Given the description of an element on the screen output the (x, y) to click on. 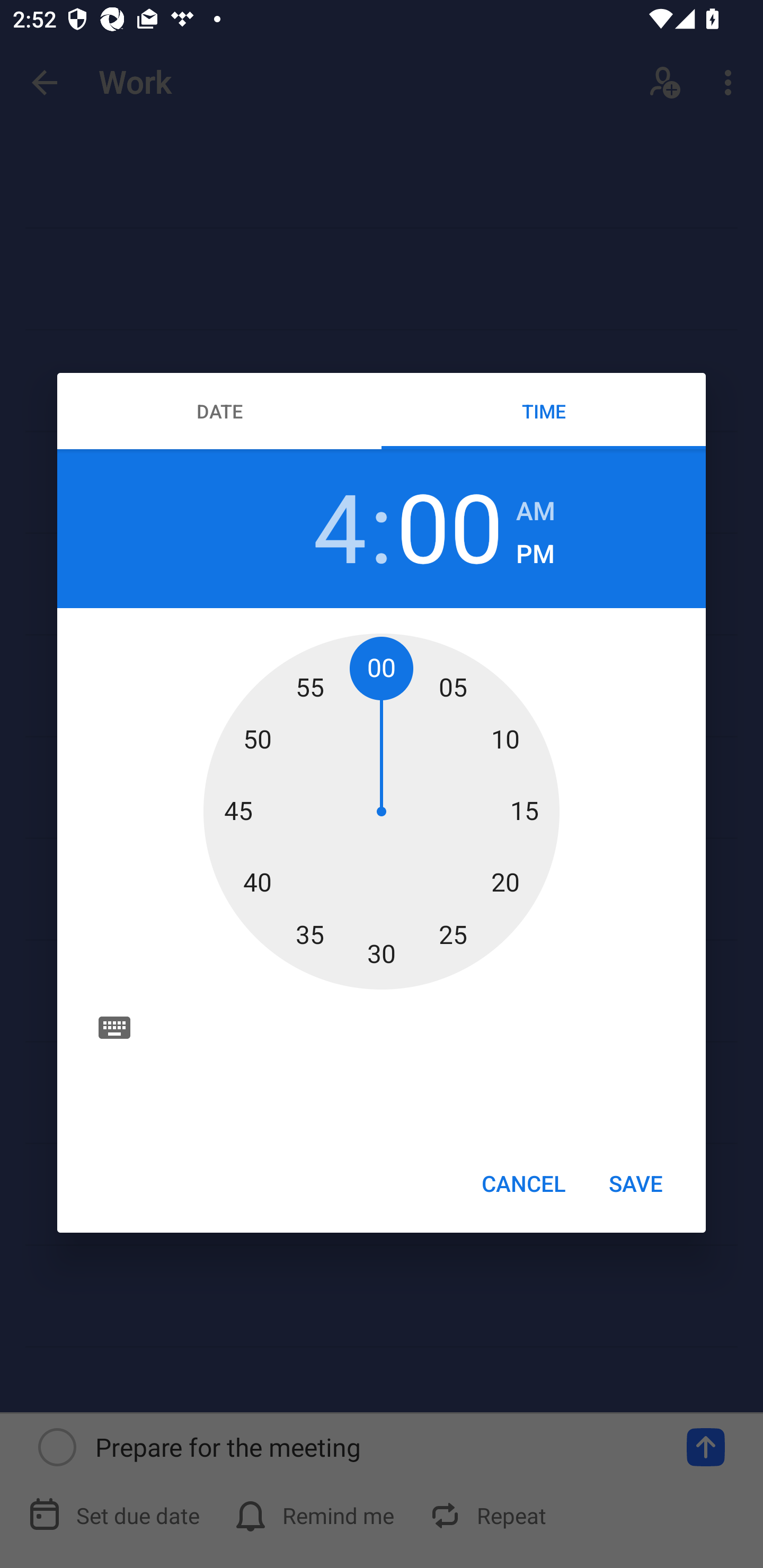
SAVE (635, 1182)
